Given the description of an element on the screen output the (x, y) to click on. 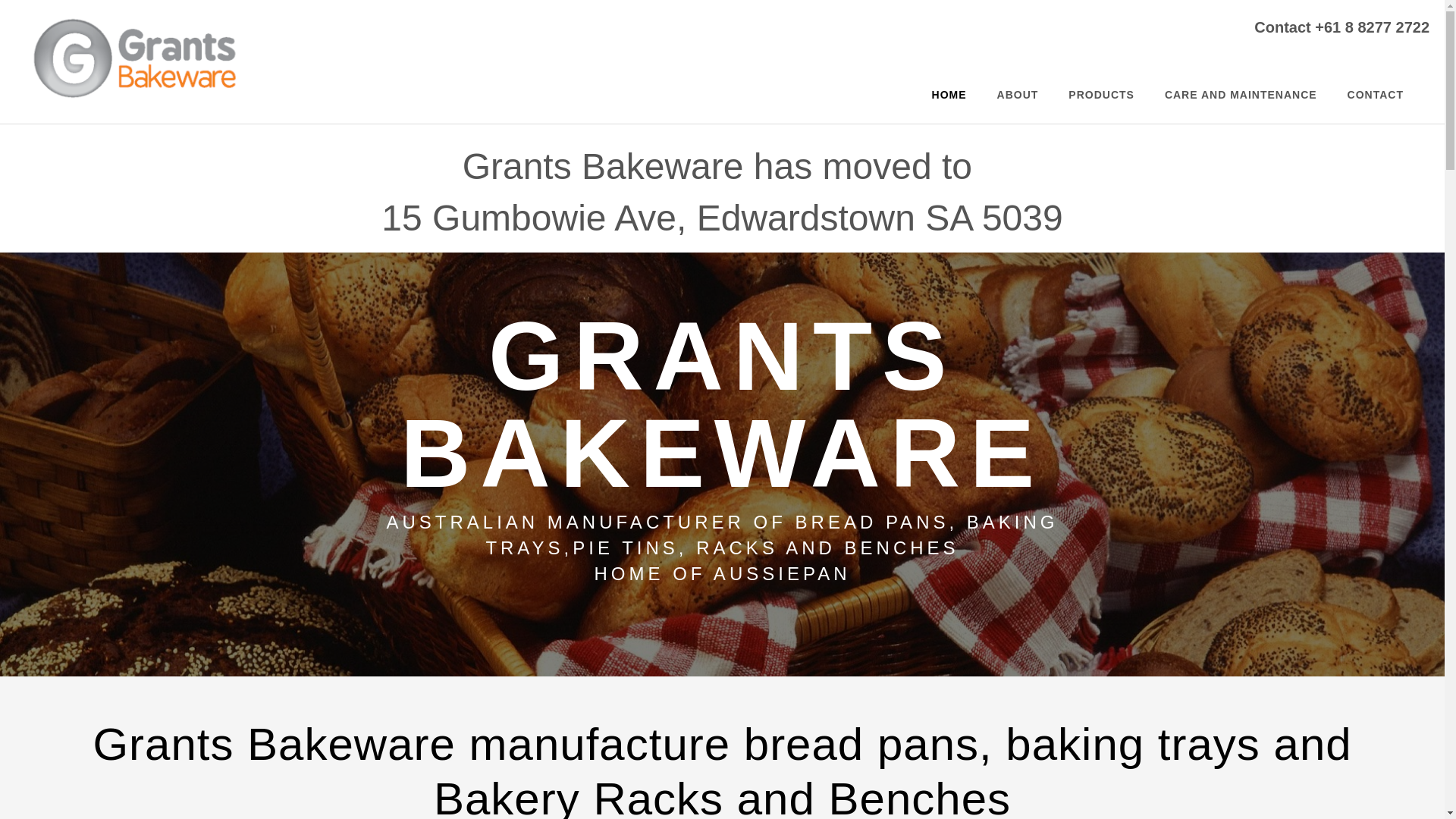
CONTACT Element type: text (1375, 94)
ABOUT Element type: text (1017, 94)
HOME Element type: text (949, 94)
PRODUCTS Element type: text (1101, 94)
CARE AND MAINTENANCE Element type: text (1240, 94)
